Given the description of an element on the screen output the (x, y) to click on. 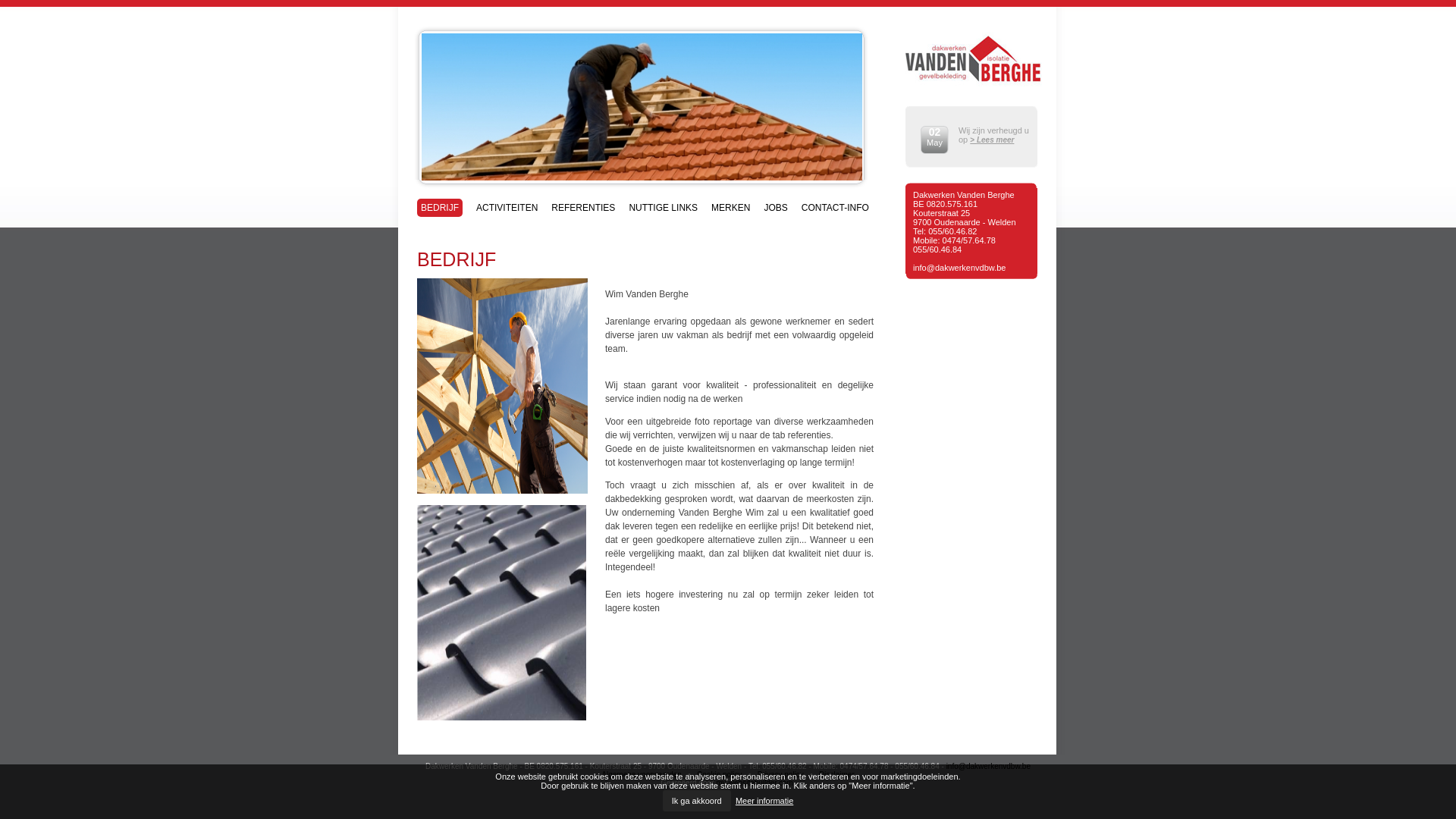
CONTACT-INFO Element type: text (835, 205)
Meer informatie Element type: text (764, 800)
Privacy policy Element type: text (780, 774)
Disclaimer Element type: text (836, 774)
Algemene voorwaarden Element type: text (641, 774)
Cookie policy Element type: text (718, 774)
> Lees meer Element type: text (991, 139)
info@dakwerkenvdbw.be Element type: text (959, 267)
ACTIVITEITEN Element type: text (506, 205)
REFERENTIES Element type: text (583, 205)
JOBS Element type: text (775, 205)
NUTTIGE LINKS Element type: text (662, 205)
BEDRIJF Element type: text (439, 207)
info@dakwerkenvdbw.be Element type: text (988, 766)
my-websitebuilder.com Element type: text (754, 782)
MERKEN Element type: text (730, 205)
Ik ga akkoord Element type: text (696, 800)
